Given the description of an element on the screen output the (x, y) to click on. 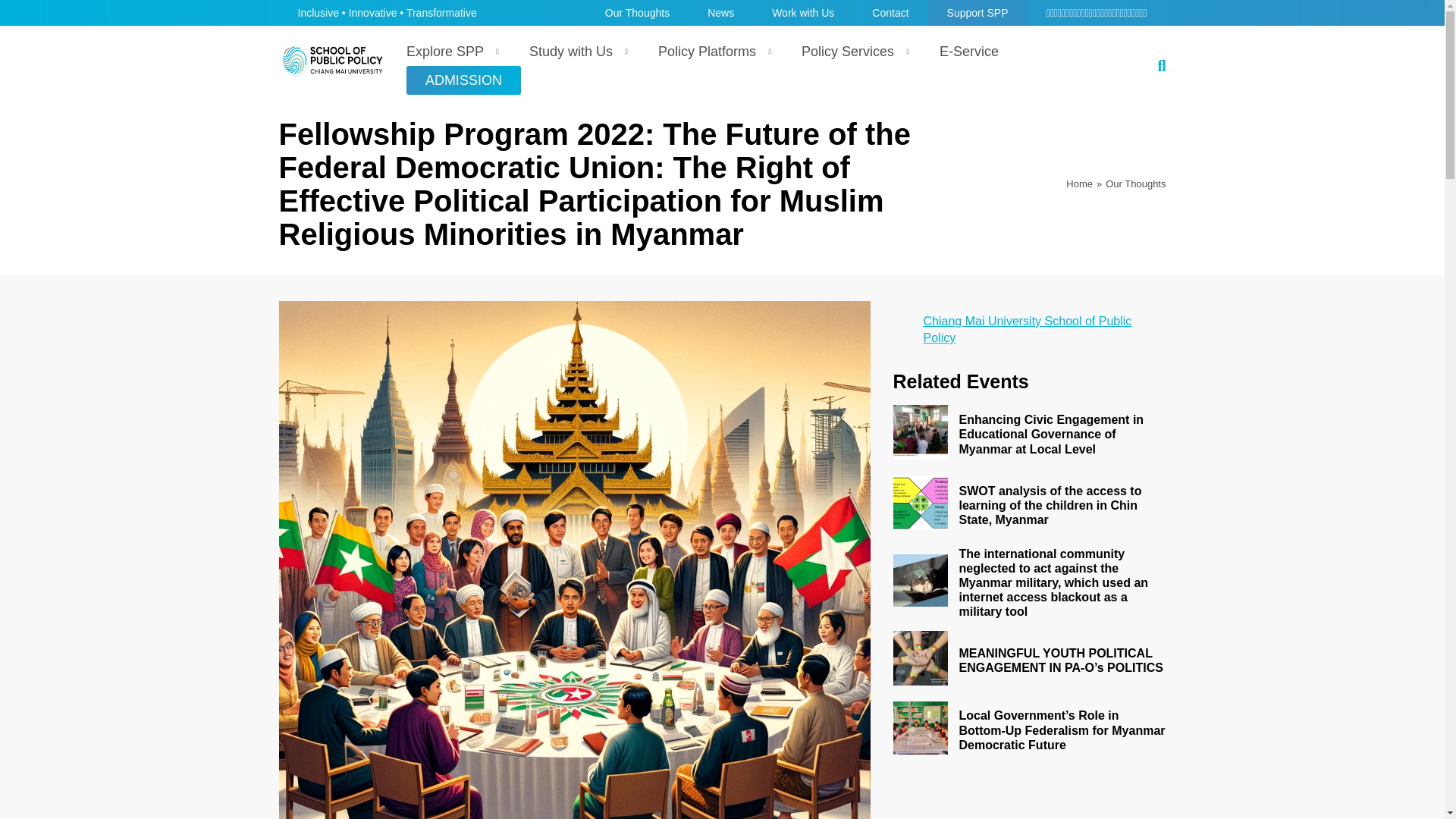
News (720, 12)
Work with Us (802, 12)
Our Thoughts (637, 12)
Contact (890, 12)
Policy Services (851, 51)
Explore SPP (449, 51)
Our Thoughts (1135, 183)
ADMISSION (463, 80)
Support SPP (977, 12)
Home (1079, 183)
